Given the description of an element on the screen output the (x, y) to click on. 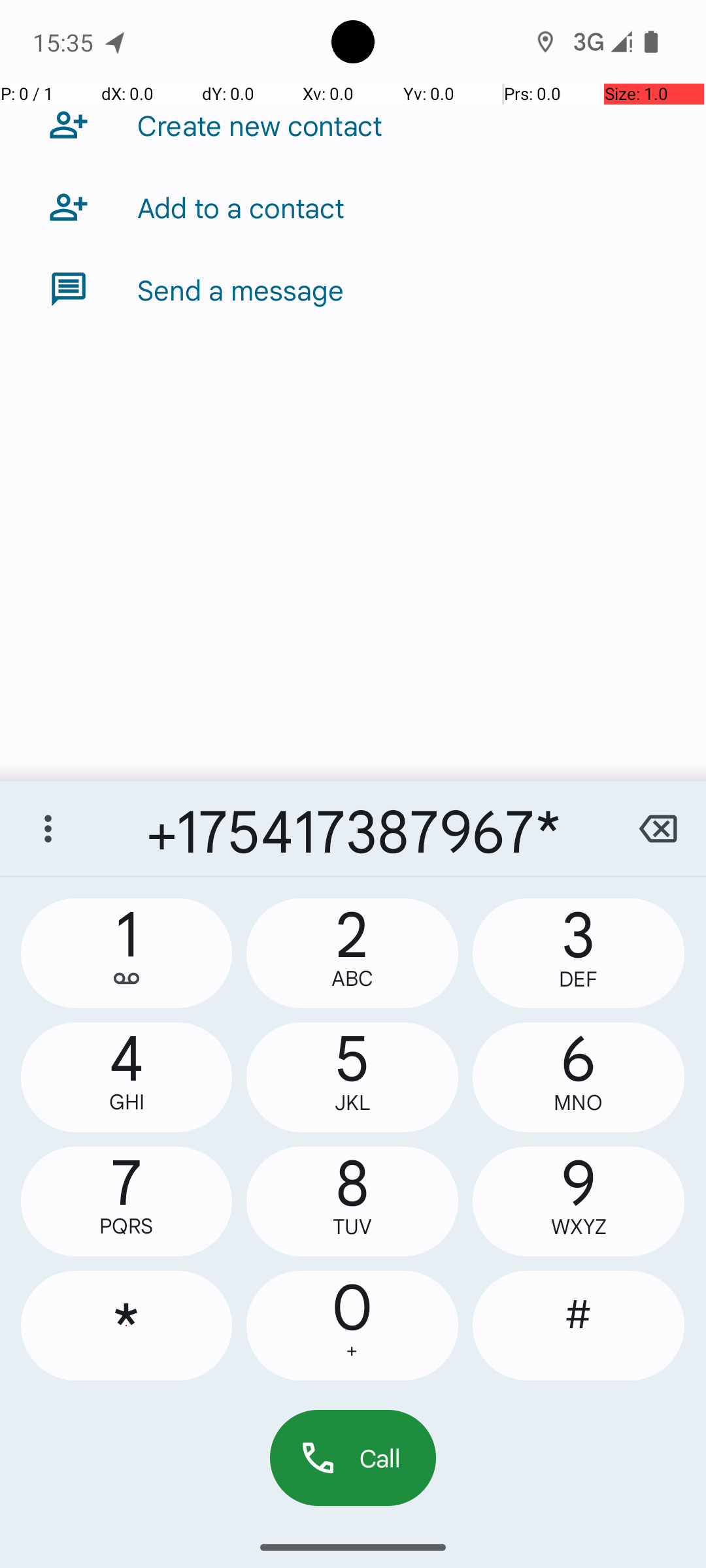
Call Element type: android.widget.Button (352, 1457)
+175417387967* Element type: android.widget.EditText (352, 828)
backspace Element type: android.widget.ImageButton (657, 828)
1, Element type: android.widget.FrameLayout (126, 953)
2,ABC Element type: android.widget.FrameLayout (352, 953)
3,DEF Element type: android.widget.FrameLayout (578, 953)
4,GHI Element type: android.widget.FrameLayout (126, 1077)
5,JKL Element type: android.widget.FrameLayout (352, 1077)
6,MNO Element type: android.widget.FrameLayout (578, 1077)
7,PQRS Element type: android.widget.FrameLayout (126, 1201)
8,TUV Element type: android.widget.FrameLayout (352, 1201)
9,WXYZ Element type: android.widget.FrameLayout (578, 1201)
* Element type: android.widget.FrameLayout (126, 1325)
ABC Element type: android.widget.TextView (351, 978)
DEF Element type: android.widget.TextView (578, 978)
GHI Element type: android.widget.TextView (126, 1101)
JKL Element type: android.widget.TextView (351, 1102)
MNO Element type: android.widget.TextView (578, 1102)
PQRS Element type: android.widget.TextView (126, 1225)
TUV Element type: android.widget.TextView (351, 1226)
WXYZ Element type: android.widget.TextView (578, 1226)
+ Element type: android.widget.TextView (351, 1351)
Create new contact Element type: android.widget.TextView (260, 124)
Add to a contact Element type: android.widget.TextView (240, 206)
Send a message Element type: android.widget.TextView (240, 289)
